Given the description of an element on the screen output the (x, y) to click on. 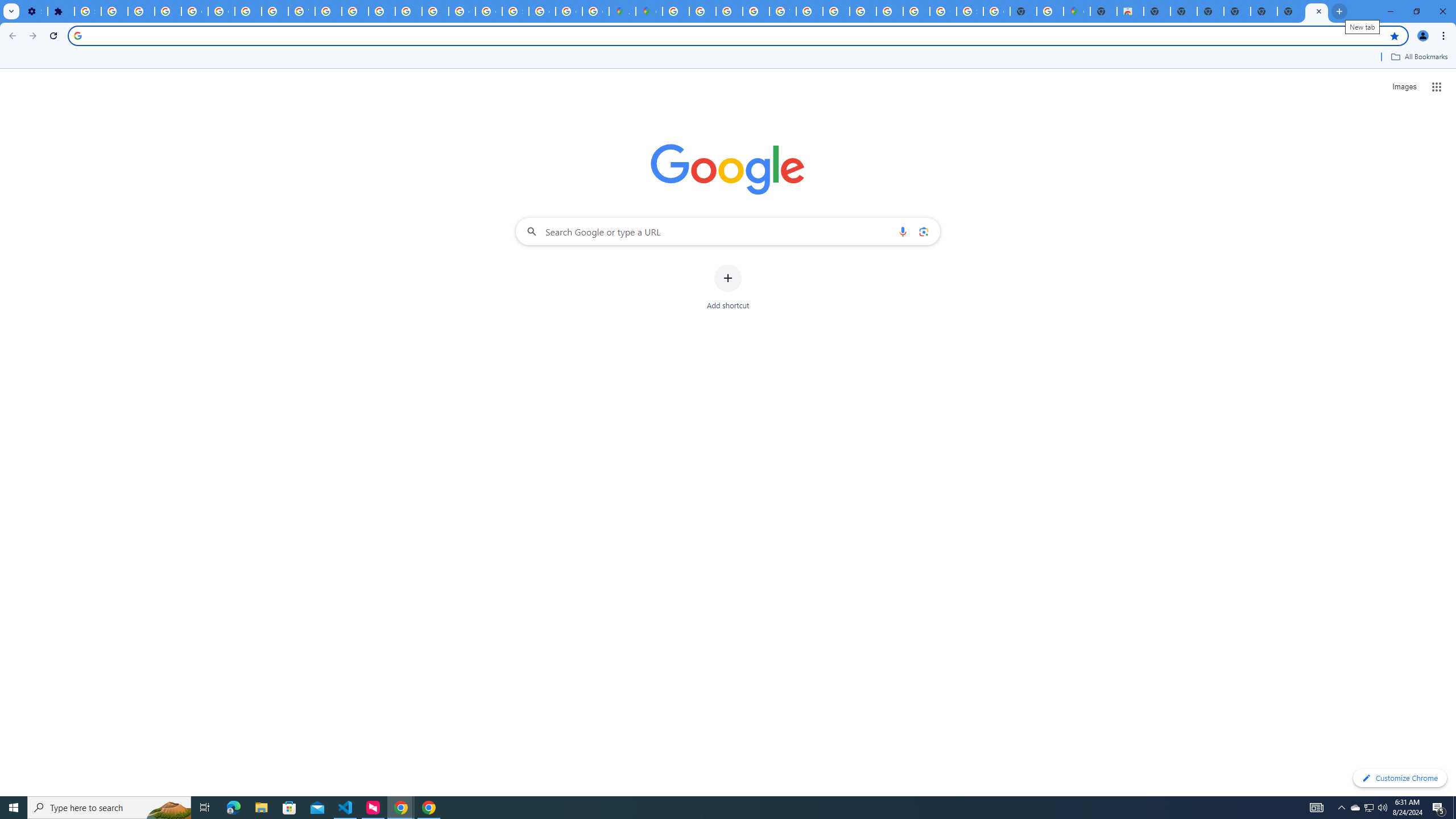
New Tab (1263, 11)
Search by image (922, 230)
New Tab (1236, 11)
